Given the description of an element on the screen output the (x, y) to click on. 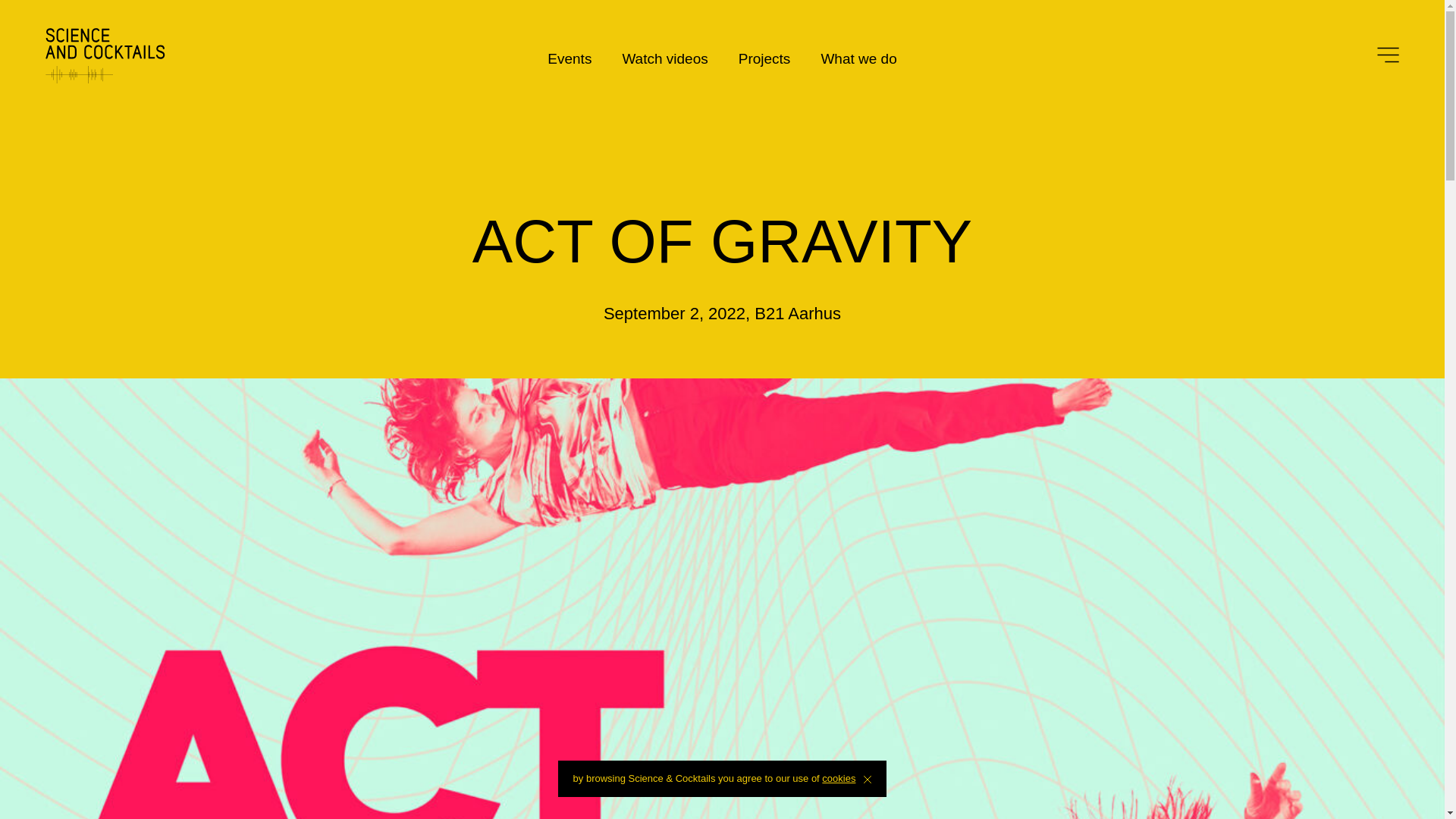
What we do (858, 58)
cookies (839, 778)
Events (569, 58)
e-remove (866, 778)
Projects (764, 58)
Watch videos (664, 58)
